Given the description of an element on the screen output the (x, y) to click on. 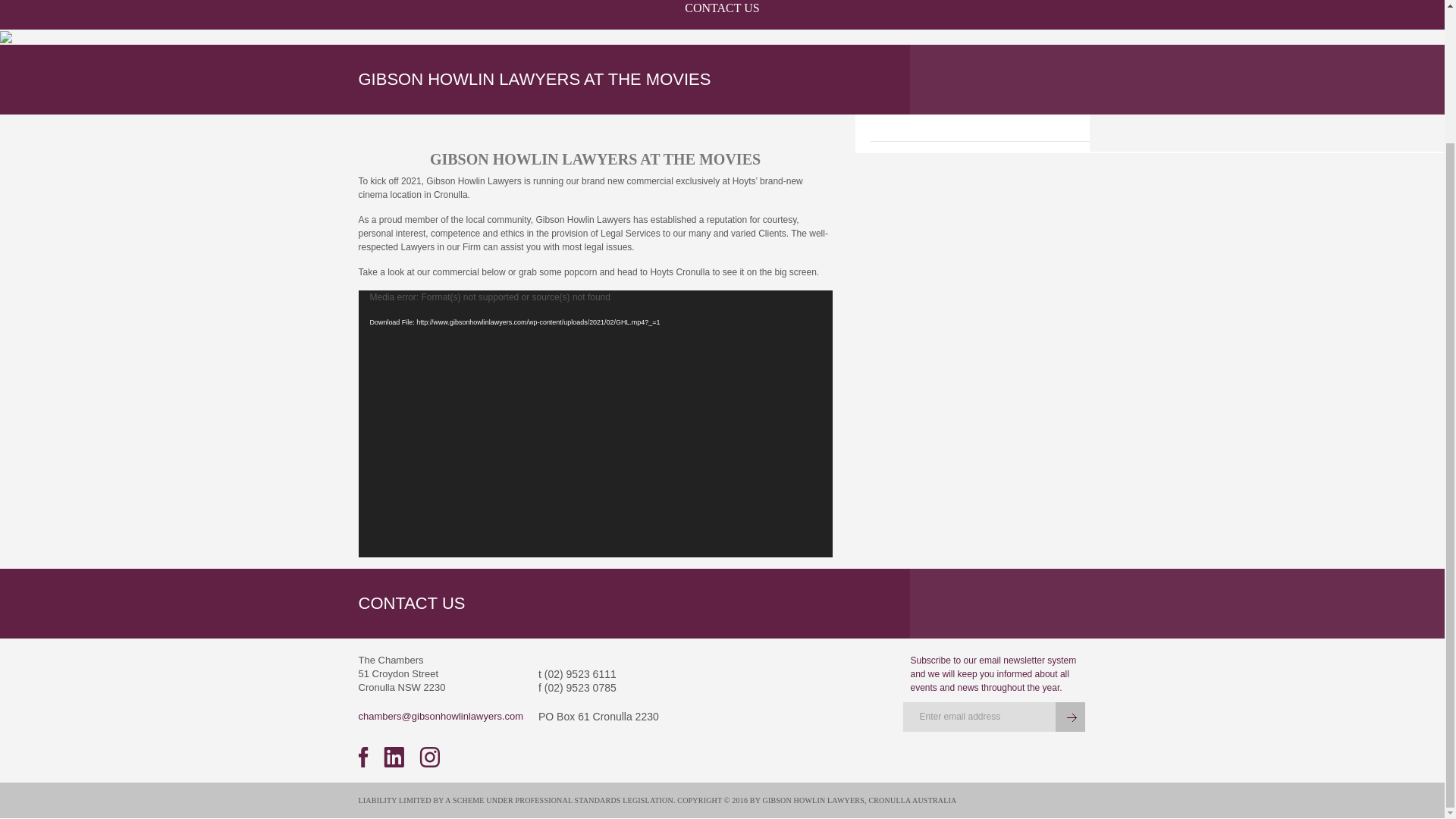
CONTACT US (722, 14)
